Given the description of an element on the screen output the (x, y) to click on. 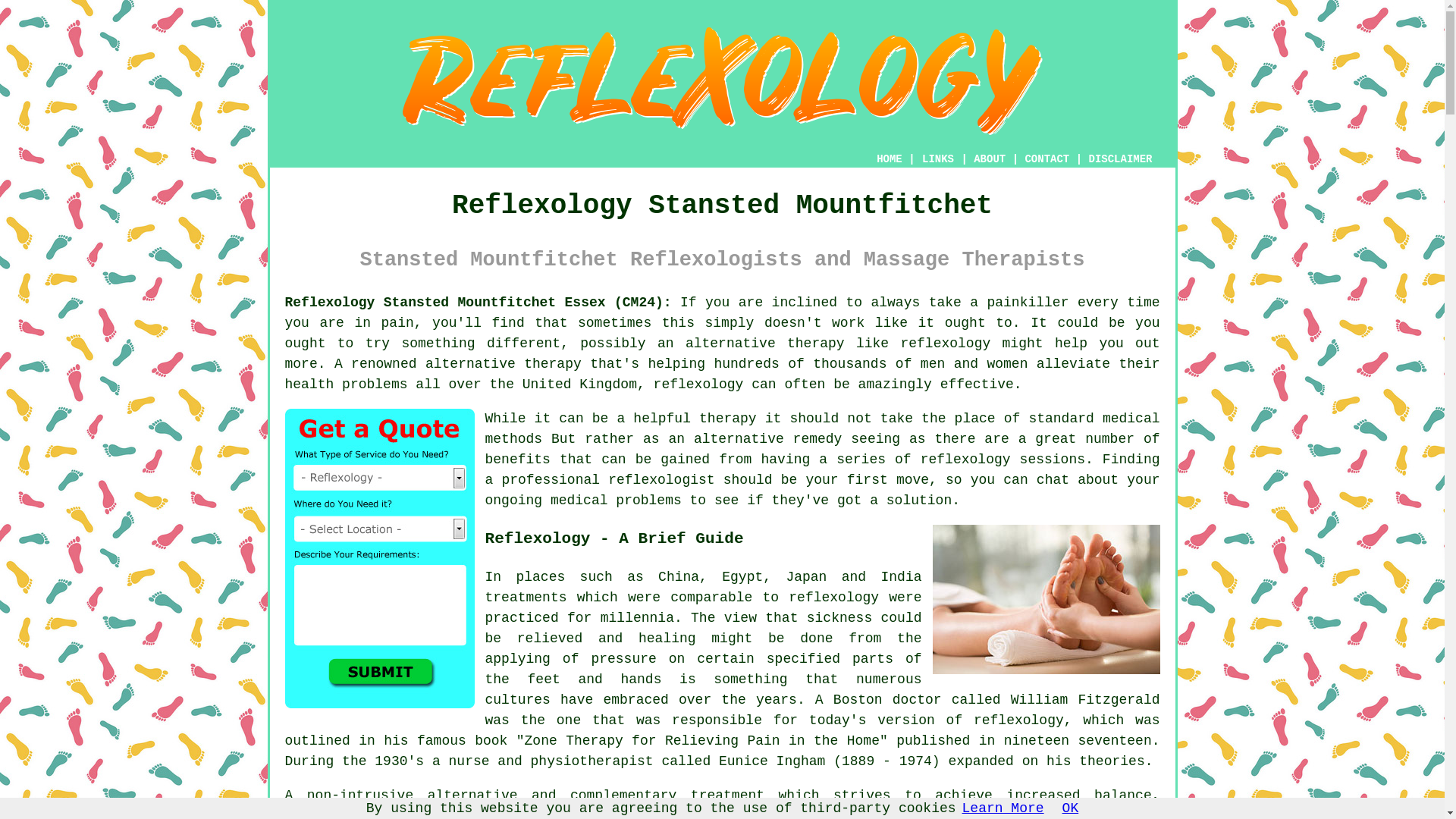
reflexology (944, 343)
Reflexologist Stansted Mountfitchet (722, 81)
reflexology sessions (1002, 459)
therapy (727, 418)
HOME (889, 159)
LINKS (938, 159)
reflexologist (661, 479)
